Given the description of an element on the screen output the (x, y) to click on. 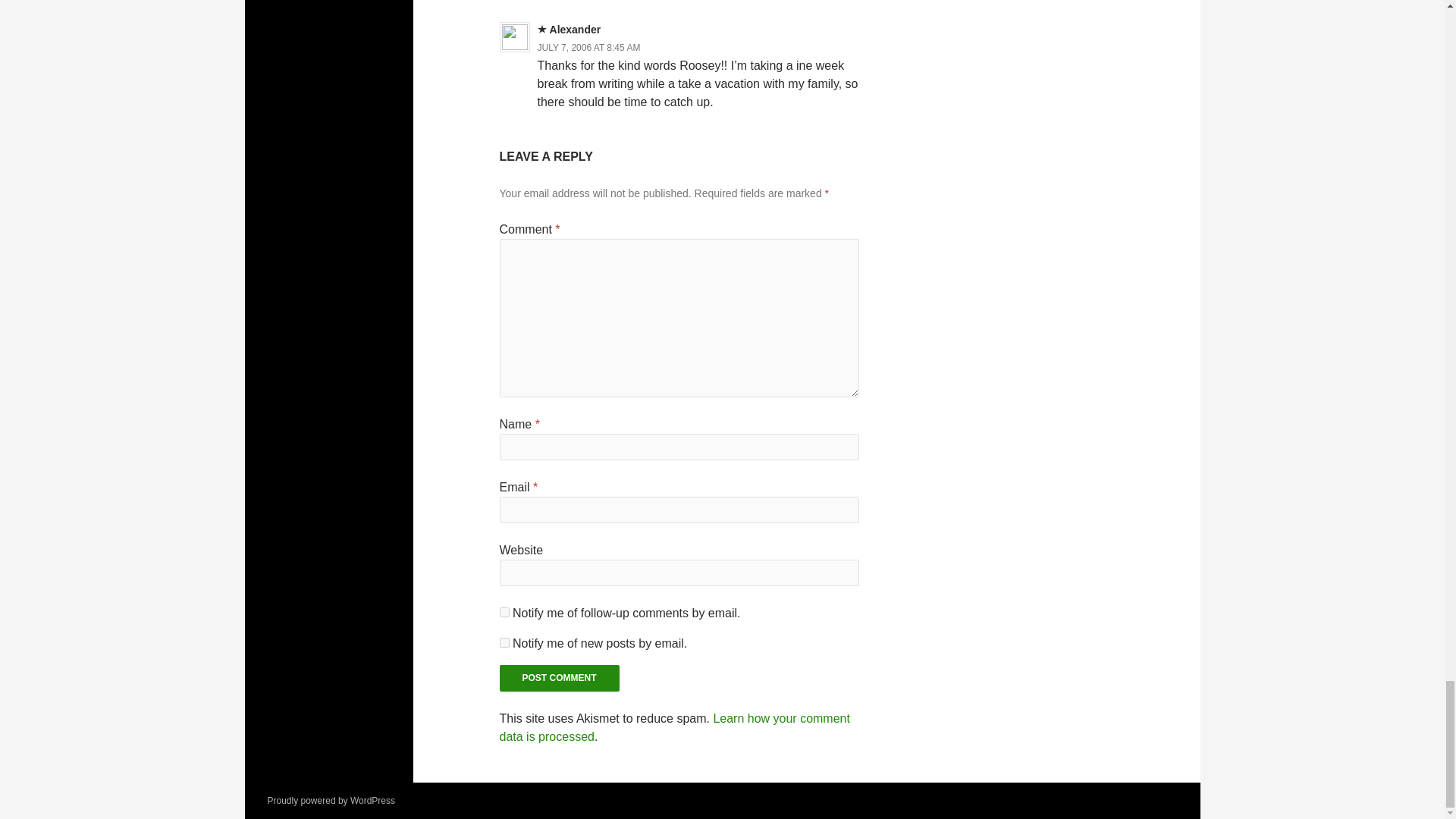
Post Comment (559, 678)
subscribe (504, 642)
JULY 7, 2006 AT 8:45 AM (588, 47)
Alexander (575, 29)
subscribe (504, 612)
Post Comment (559, 678)
